Given the description of an element on the screen output the (x, y) to click on. 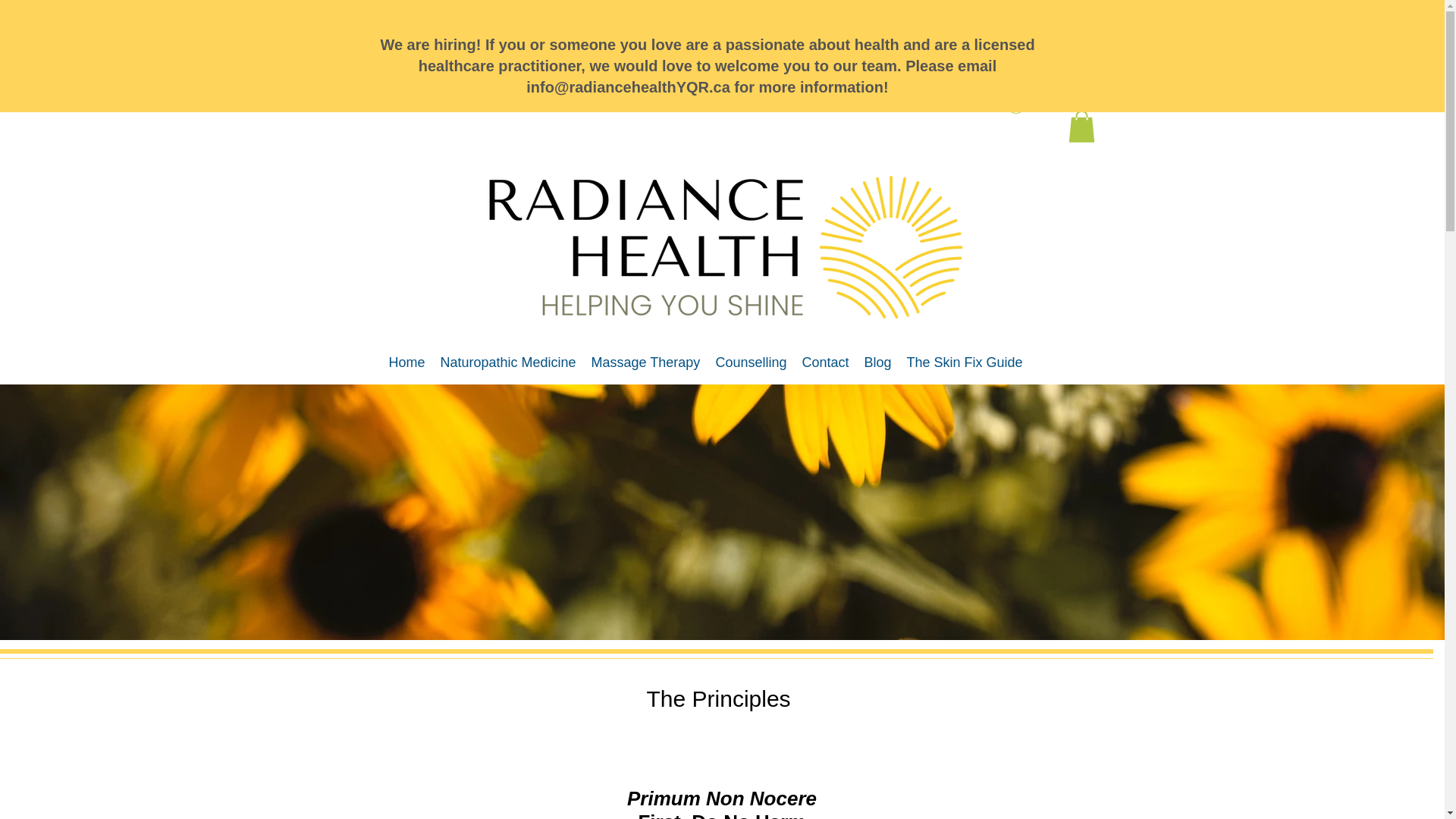
Massage Therapy (645, 362)
Log In (1040, 103)
Home (406, 362)
Counselling (750, 362)
Blog (878, 362)
Contact (825, 362)
The Skin Fix Guide (964, 362)
